Given the description of an element on the screen output the (x, y) to click on. 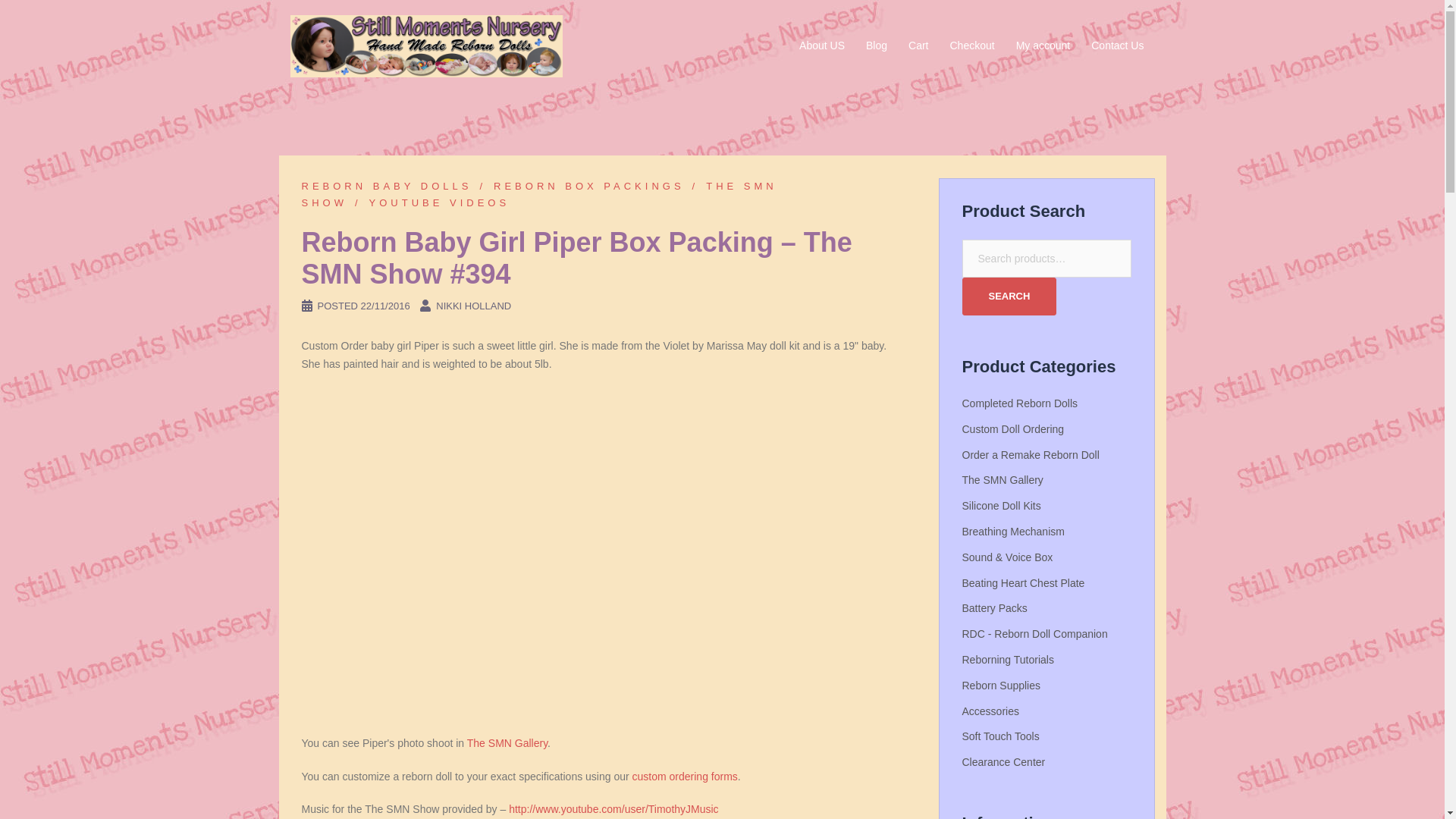
Reborn Baby Dolls (386, 185)
Blog (876, 45)
Reborn Box Packings (577, 185)
THE SMN SHOW (539, 194)
YouTube Videos (428, 202)
REBORN BOX PACKINGS (577, 185)
Checkout (971, 45)
Still Moments Nursery (425, 45)
REBORN BABY DOLLS (386, 185)
custom ordering forms (684, 776)
Cart (918, 45)
The SMN Show (539, 194)
NIKKI HOLLAND (473, 306)
The SMN Gallery (507, 743)
Contact Us (1116, 45)
